Given the description of an element on the screen output the (x, y) to click on. 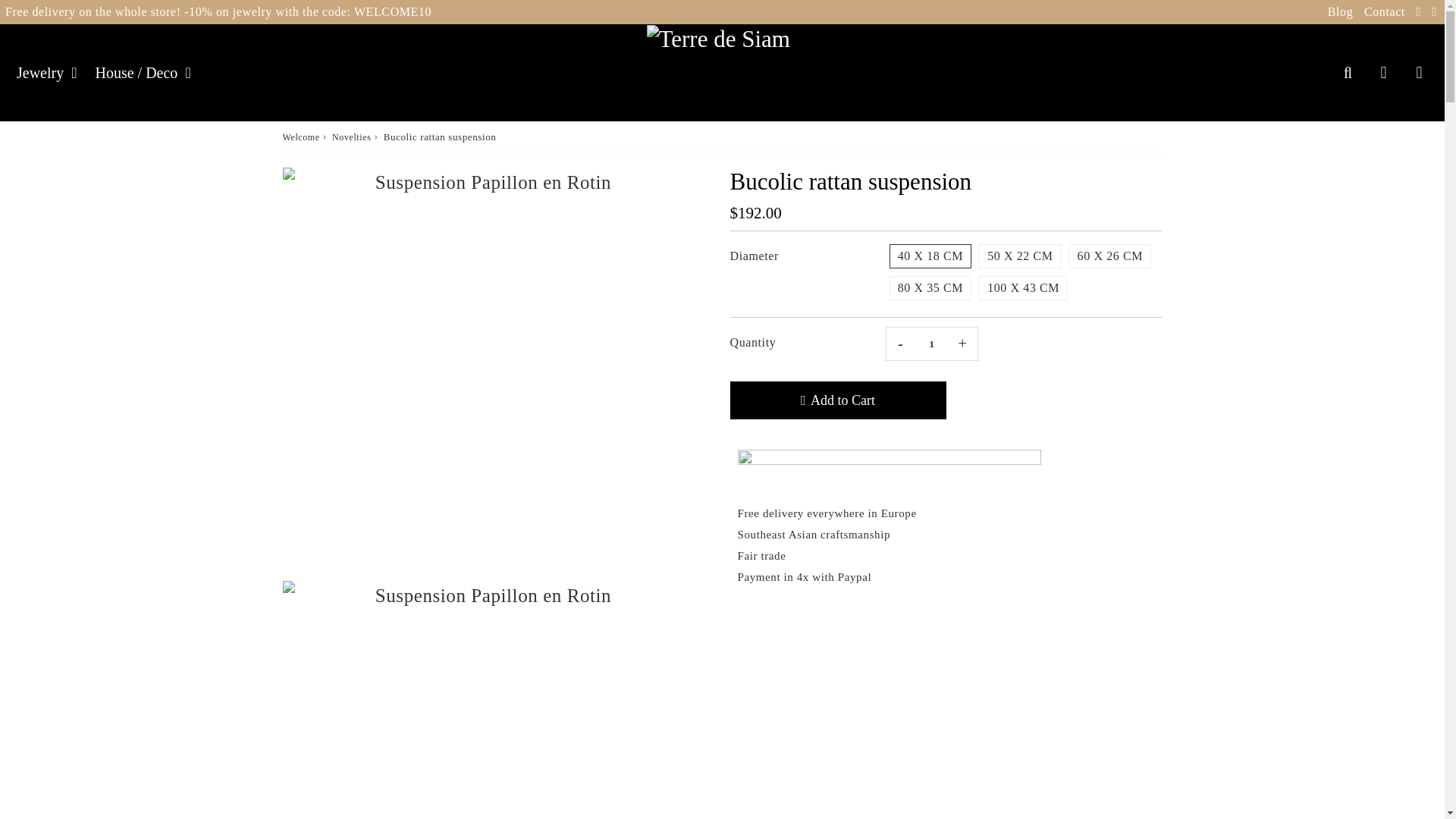
Come back to the first page (300, 137)
1 (931, 344)
Contact (1384, 11)
Jewelry (48, 72)
